Given the description of an element on the screen output the (x, y) to click on. 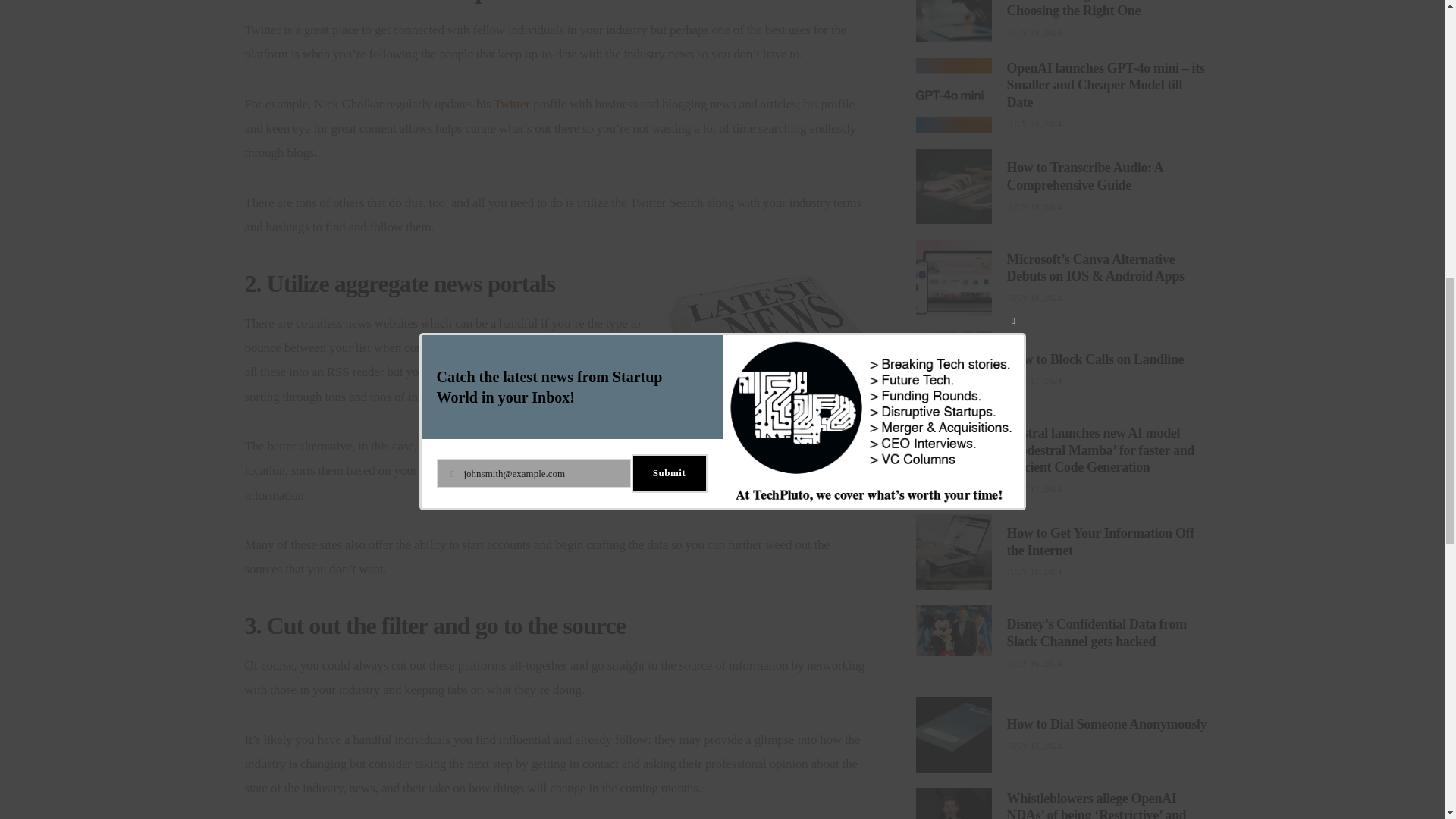
How to Stop Spam on Twitter DM (511, 104)
Get the latest kitchen gadgets (979, 654)
